Given the description of an element on the screen output the (x, y) to click on. 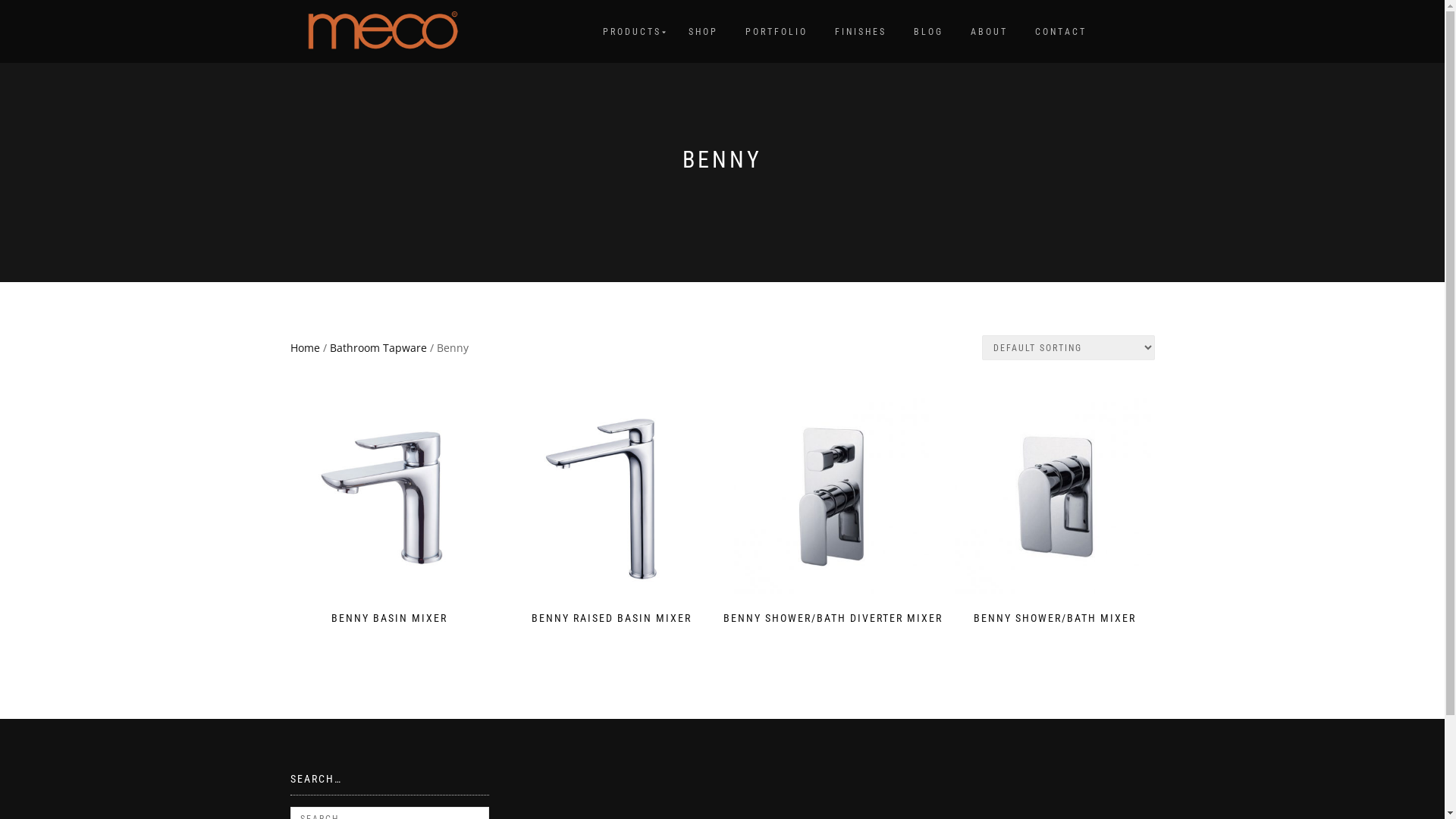
ABOUT Element type: text (988, 31)
FINISHES Element type: text (860, 31)
Bathroom Tapware Element type: text (377, 347)
BENNY SHOWER/BATH MIXER Element type: text (1055, 511)
BENNY BASIN MIXER Element type: text (390, 511)
BENNY RAISED BASIN MIXER Element type: text (611, 511)
MS10109 Element type: hover (611, 497)
PORTFOLIO Element type: text (776, 31)
MS10103 Element type: hover (1055, 497)
CONTACT Element type: text (1060, 31)
MS10101 Element type: hover (390, 497)
PRODUCTS Element type: text (631, 31)
BLOG Element type: text (928, 31)
SHOP Element type: text (702, 31)
MS10104 Element type: hover (832, 497)
Home Element type: text (304, 347)
BENNY SHOWER/BATH DIVERTER MIXER Element type: text (832, 511)
